Given the description of an element on the screen output the (x, y) to click on. 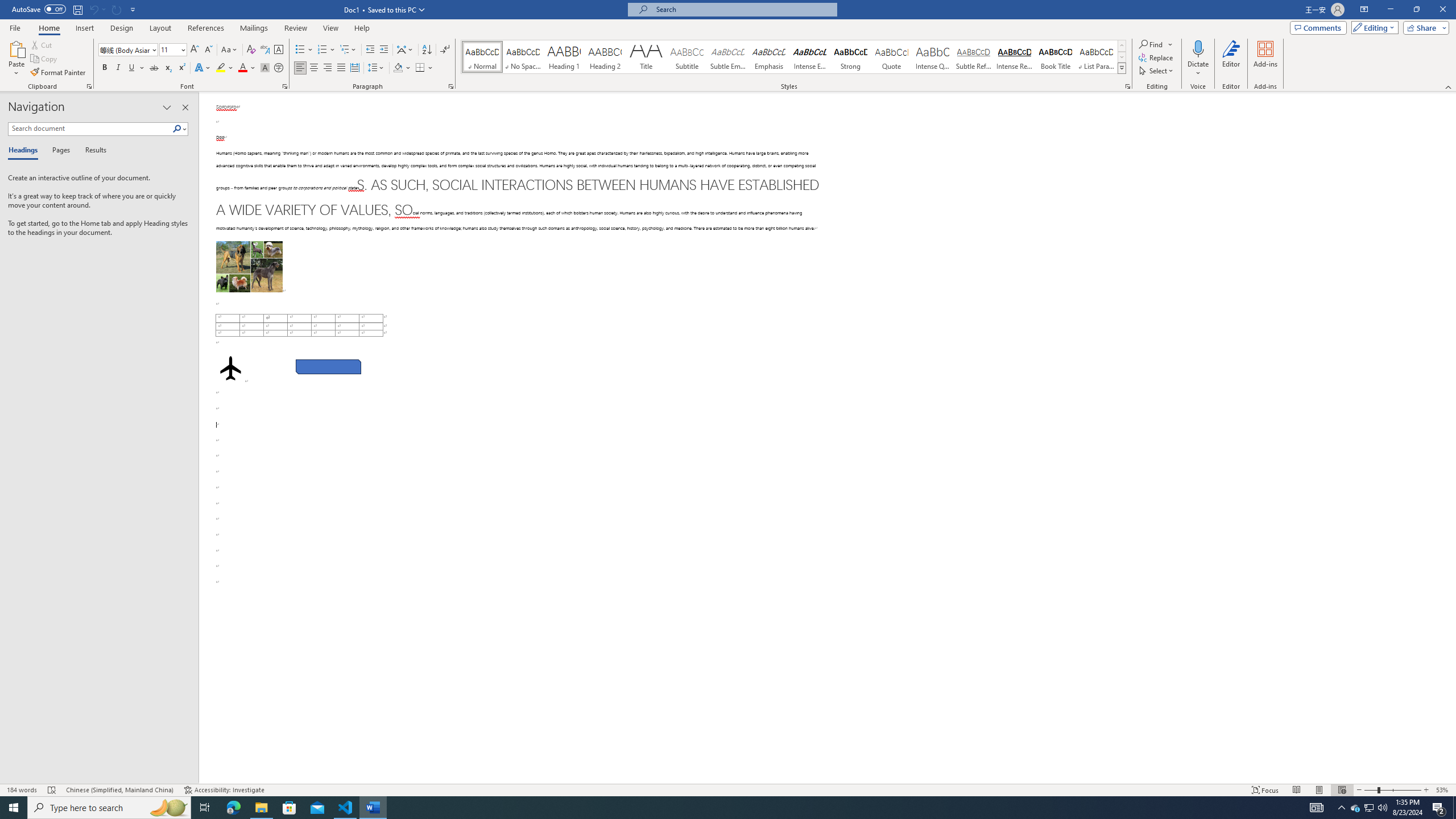
Subtle Reference (973, 56)
Emphasis (768, 56)
